Given the description of an element on the screen output the (x, y) to click on. 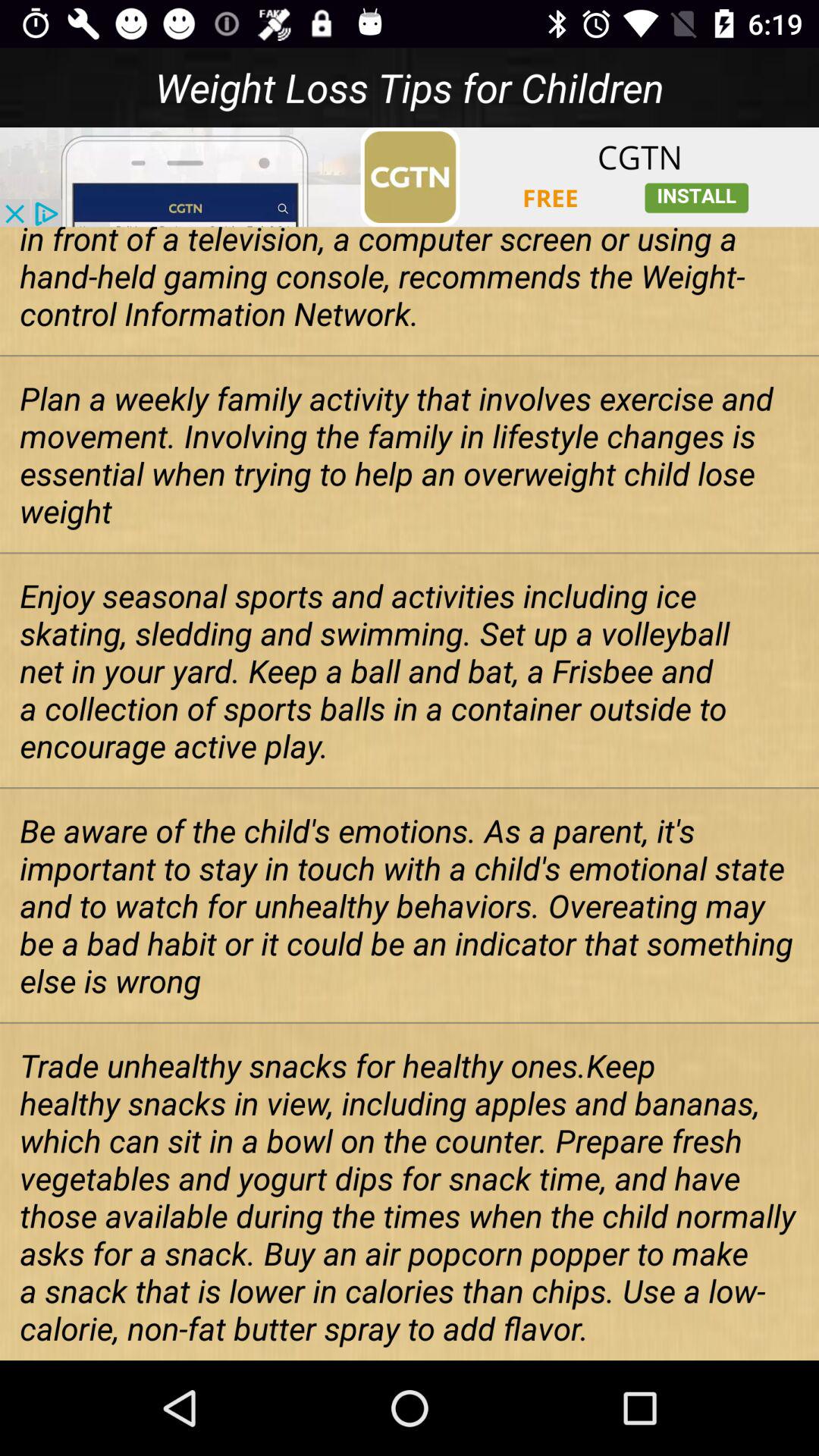
click for advertisement (409, 176)
